Given the description of an element on the screen output the (x, y) to click on. 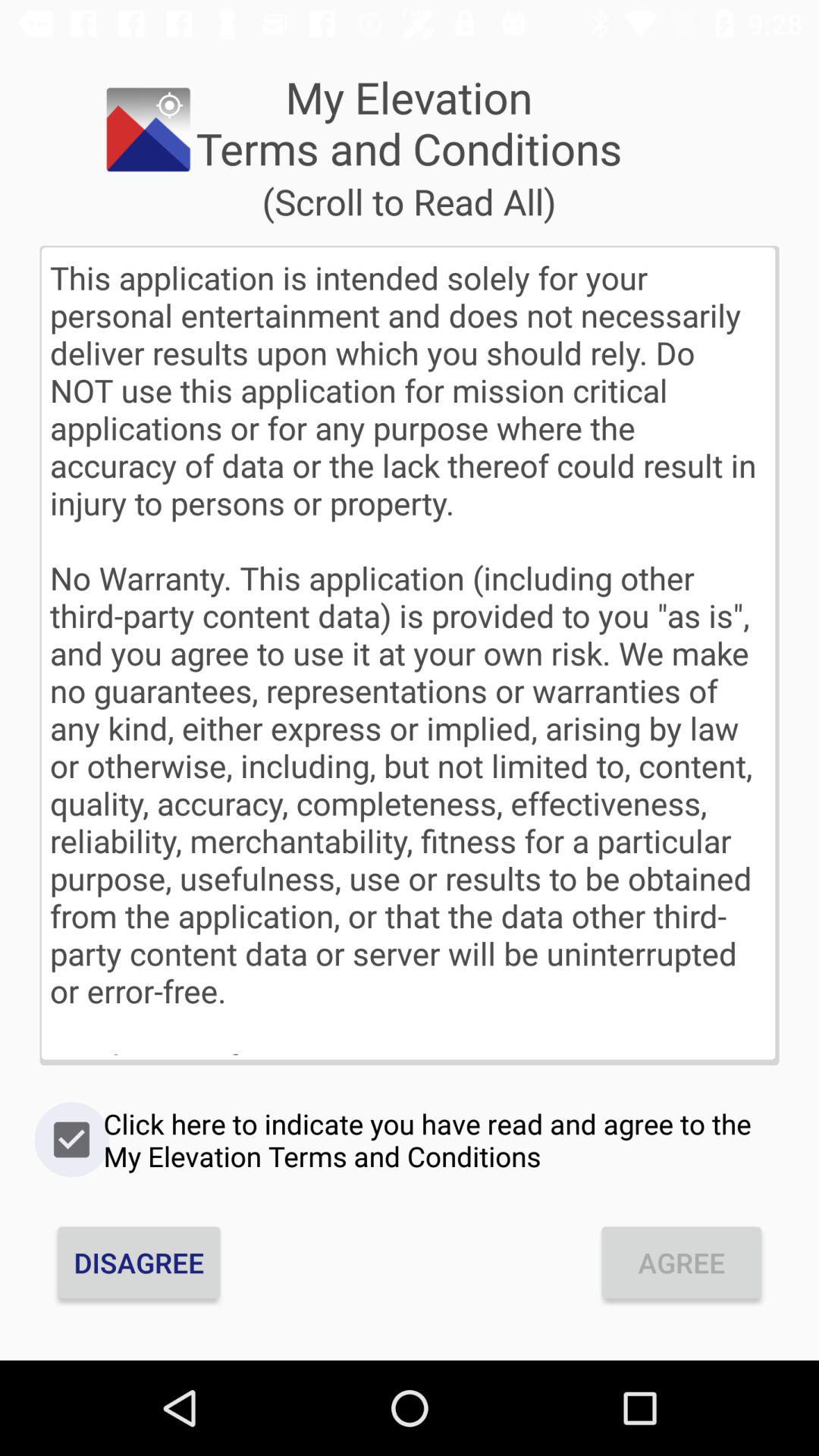
turn on the item above the disagree item (409, 1140)
